Given the description of an element on the screen output the (x, y) to click on. 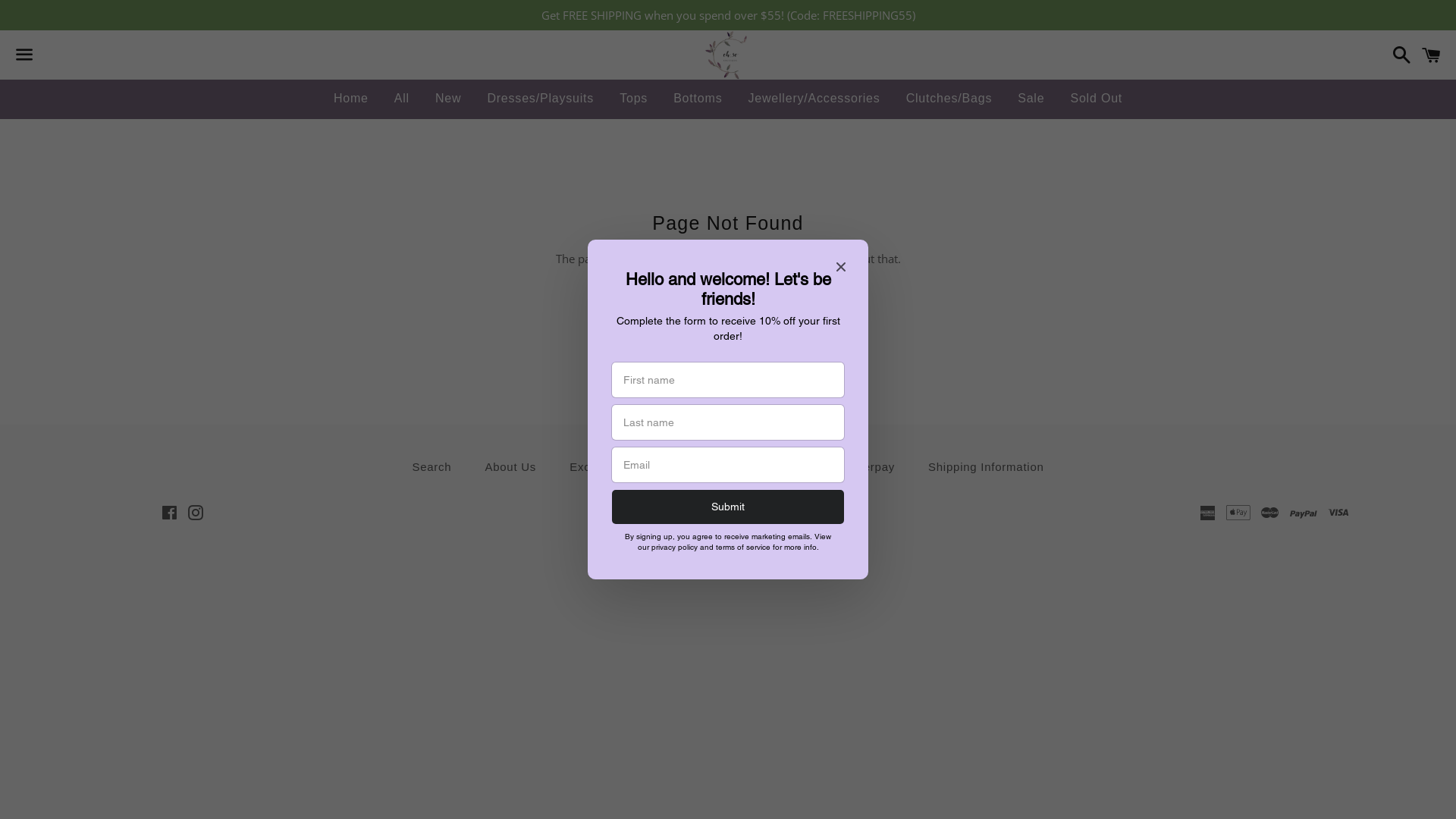
Facebook Element type: text (168, 513)
Visit our homepage Element type: text (727, 300)
Afterpay Element type: text (871, 466)
Jewellery/Accessories Element type: text (813, 98)
Search Element type: text (1397, 54)
Sale Element type: text (1030, 98)
About Us Element type: text (510, 466)
Home Element type: text (350, 98)
Free Shipping Element type: text (775, 466)
All Element type: text (401, 98)
Shipping Information Element type: text (986, 466)
Bottoms Element type: text (697, 98)
Clutches/Bags Element type: text (949, 98)
Oh So Boutique Element type: text (694, 512)
Sold Out Element type: text (1095, 98)
Exchanges and Returns Element type: text (636, 466)
Search Element type: text (431, 466)
Menu Element type: text (24, 54)
Dresses/Playsuits Element type: text (540, 98)
Cart Element type: text (1431, 54)
Instagram Element type: text (195, 513)
Tops Element type: text (633, 98)
New Element type: text (447, 98)
Powered by Shopify Element type: text (795, 512)
